Given the description of an element on the screen output the (x, y) to click on. 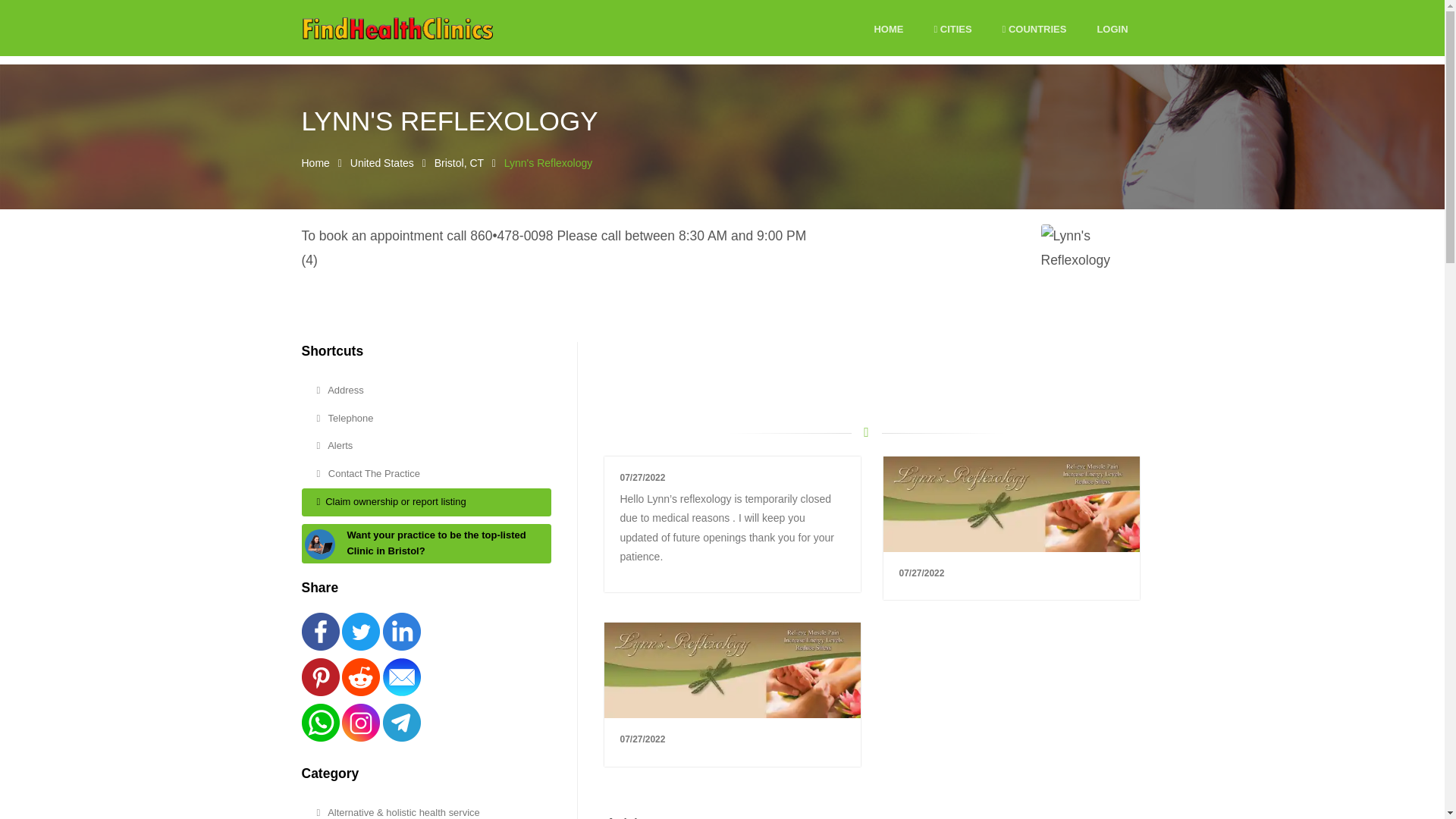
Telephone (426, 418)
Home (315, 162)
Address (426, 390)
United States (381, 162)
CITIES (952, 29)
HOME (887, 29)
Claim ownership or report listing (426, 502)
Alerts (426, 446)
Bristol, CT (458, 162)
Contact The Practice (426, 474)
